Given the description of an element on the screen output the (x, y) to click on. 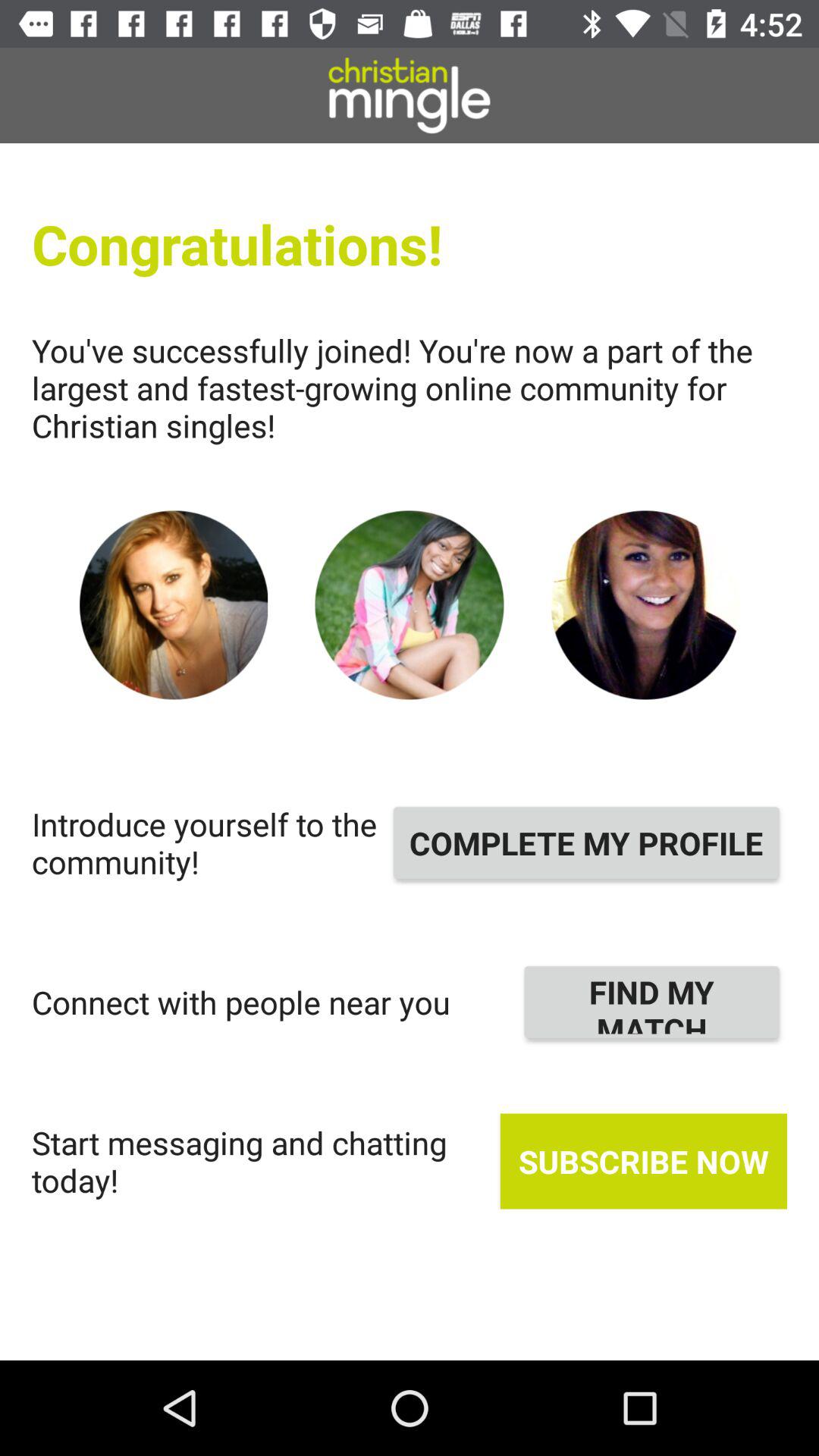
click the icon below complete my profile item (651, 1001)
